Given the description of an element on the screen output the (x, y) to click on. 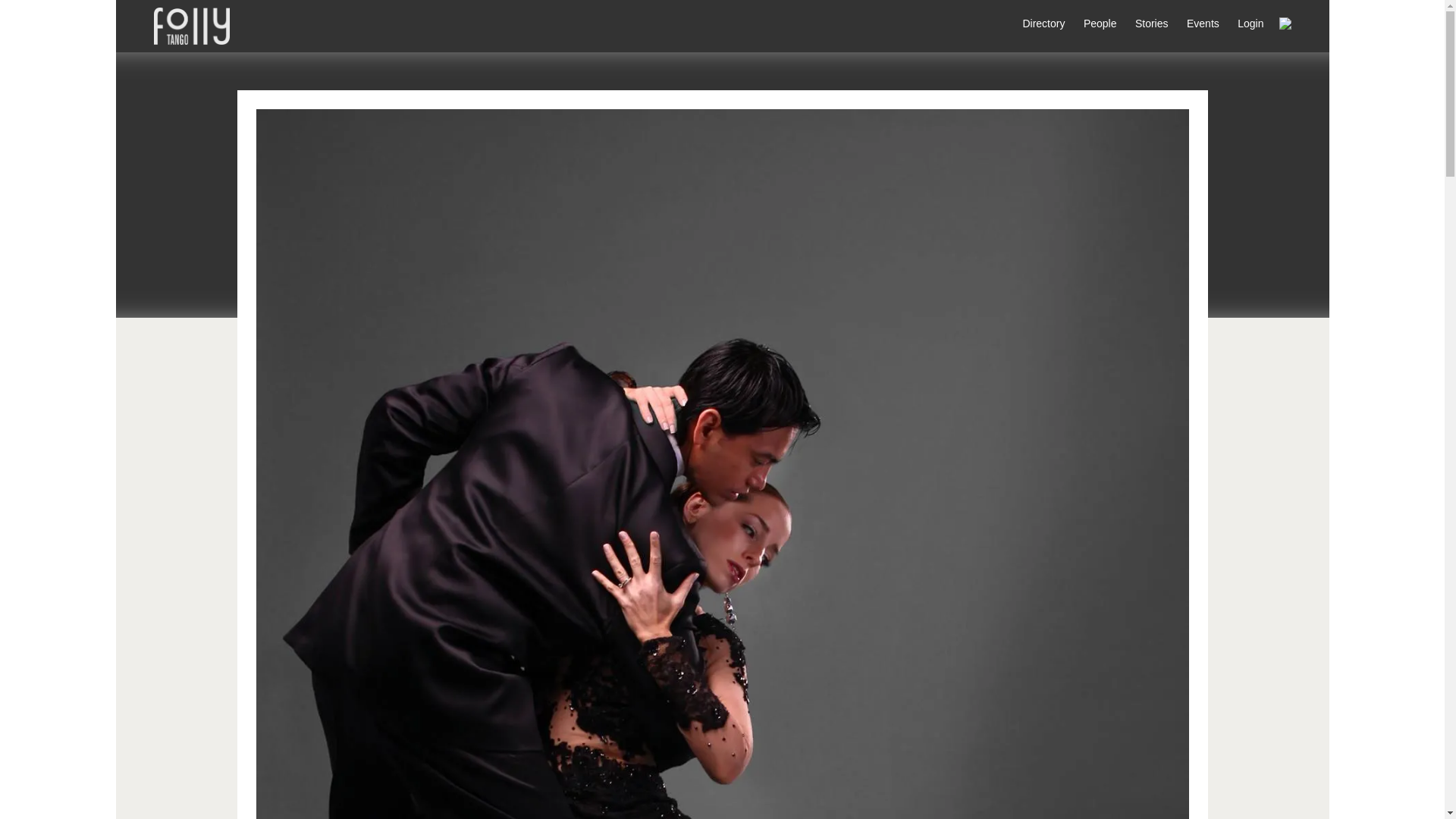
People (1092, 23)
Events (1196, 23)
Login (1243, 23)
Directory (1035, 23)
Stories (1144, 23)
